Given the description of an element on the screen output the (x, y) to click on. 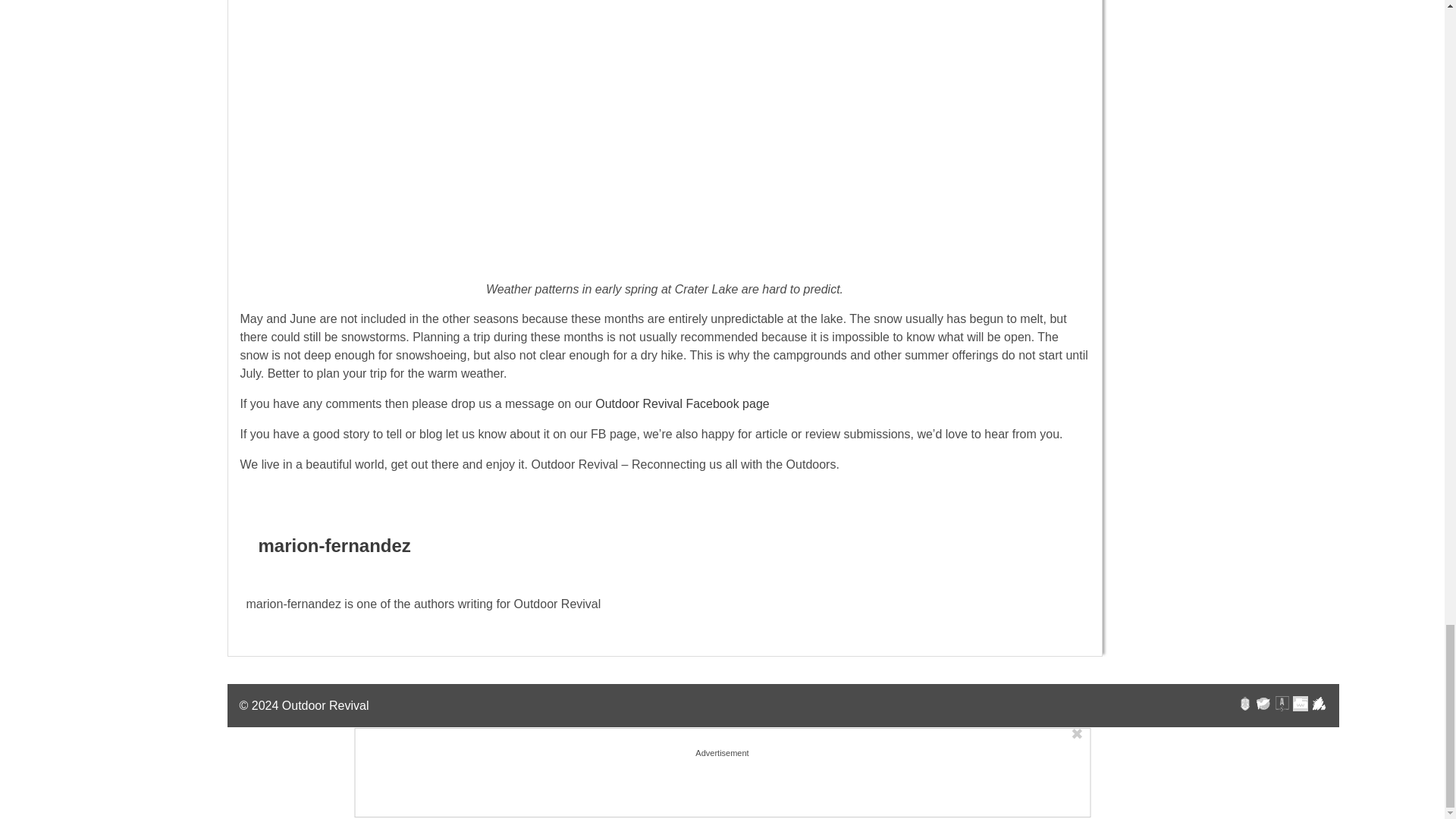
Outdoor Revival Facebook page (681, 403)
marion-fernandez (333, 546)
Outdoor Revival (325, 705)
